Given the description of an element on the screen output the (x, y) to click on. 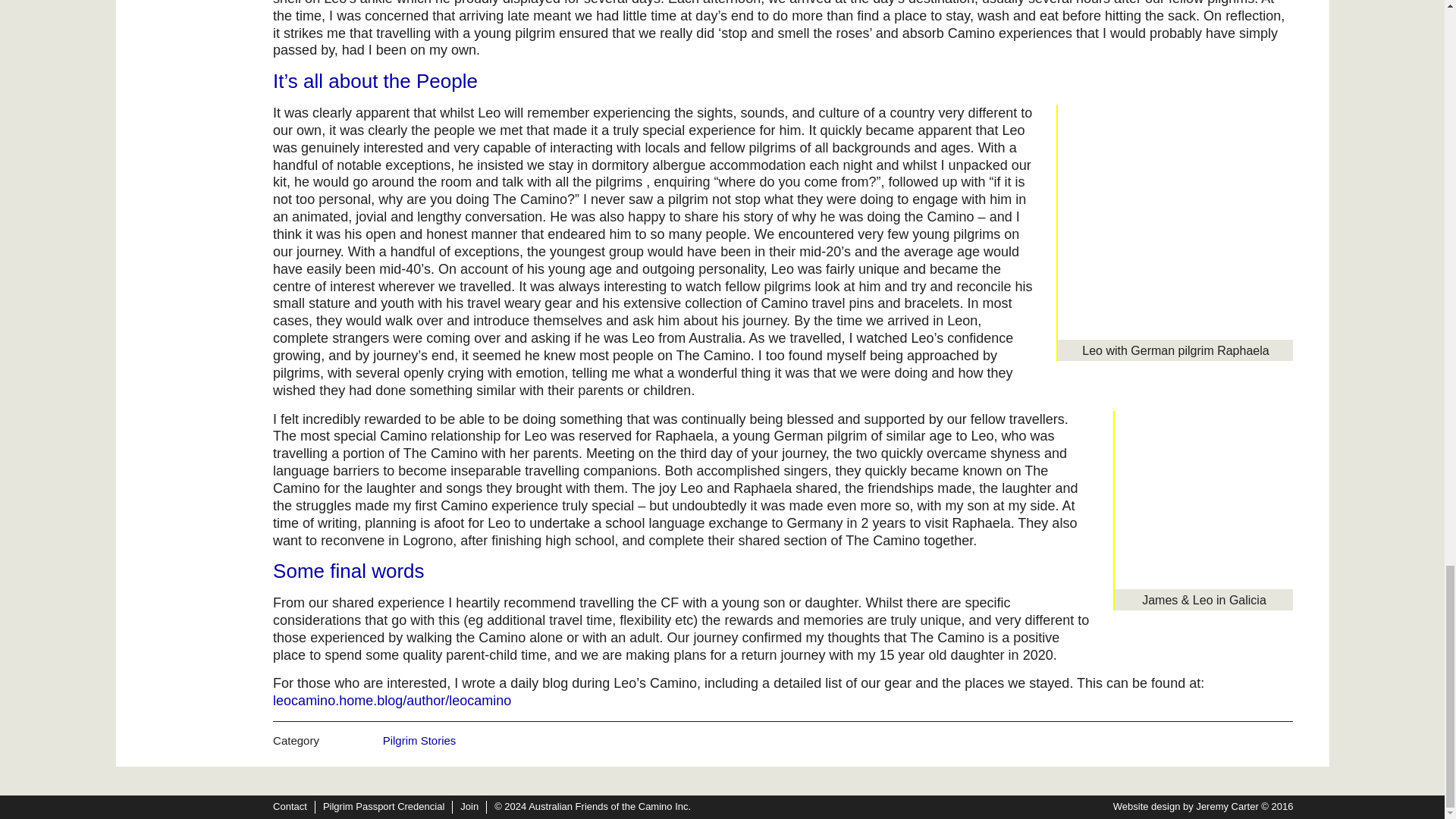
Contact (290, 806)
Pilgrim Stories (419, 739)
Pilgrim Passport Credencial (383, 806)
Join (469, 806)
